Given the description of an element on the screen output the (x, y) to click on. 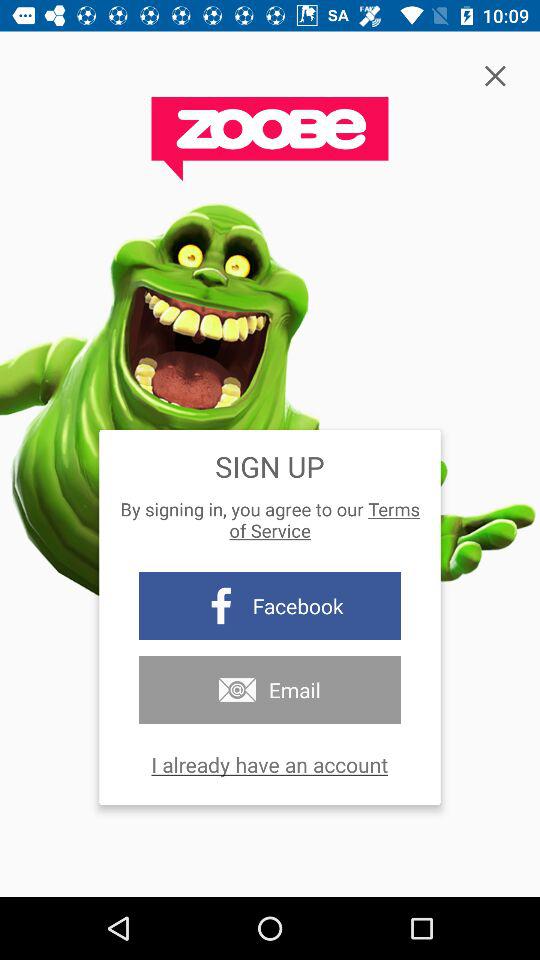
flip until the by signing in icon (269, 519)
